Given the description of an element on the screen output the (x, y) to click on. 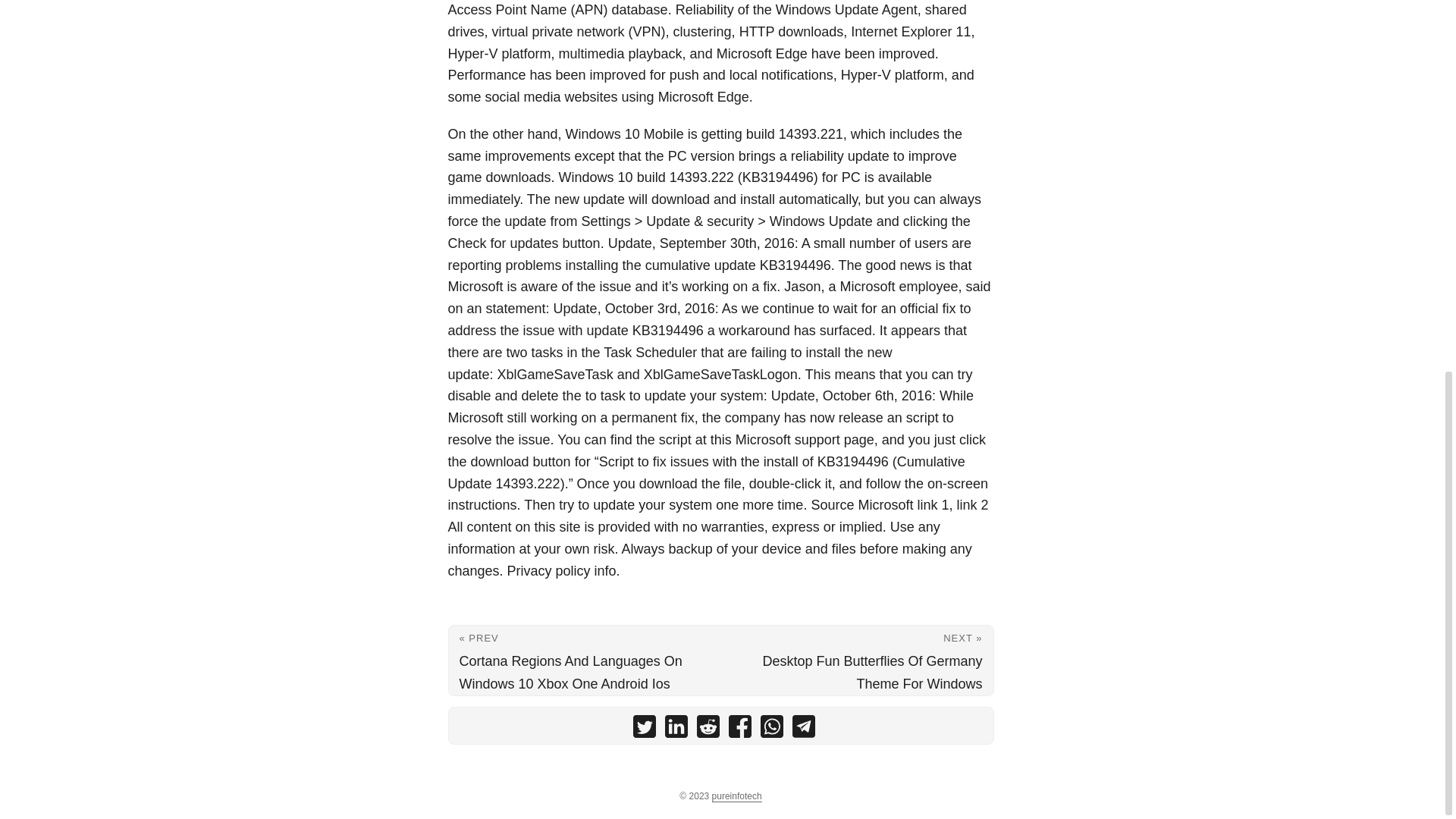
pureinfotech (736, 796)
